Given the description of an element on the screen output the (x, y) to click on. 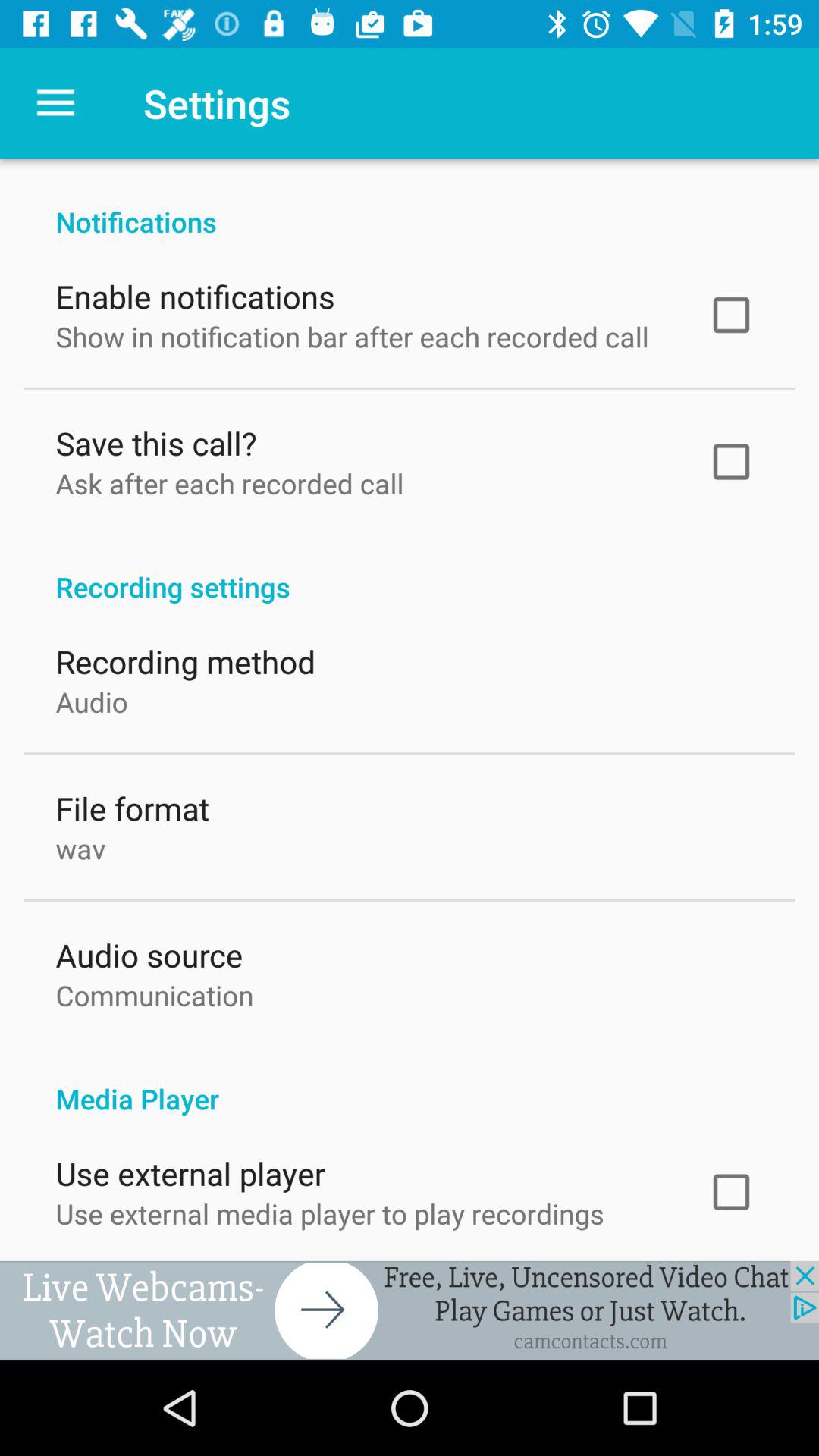
flip to the communication (154, 991)
